Given the description of an element on the screen output the (x, y) to click on. 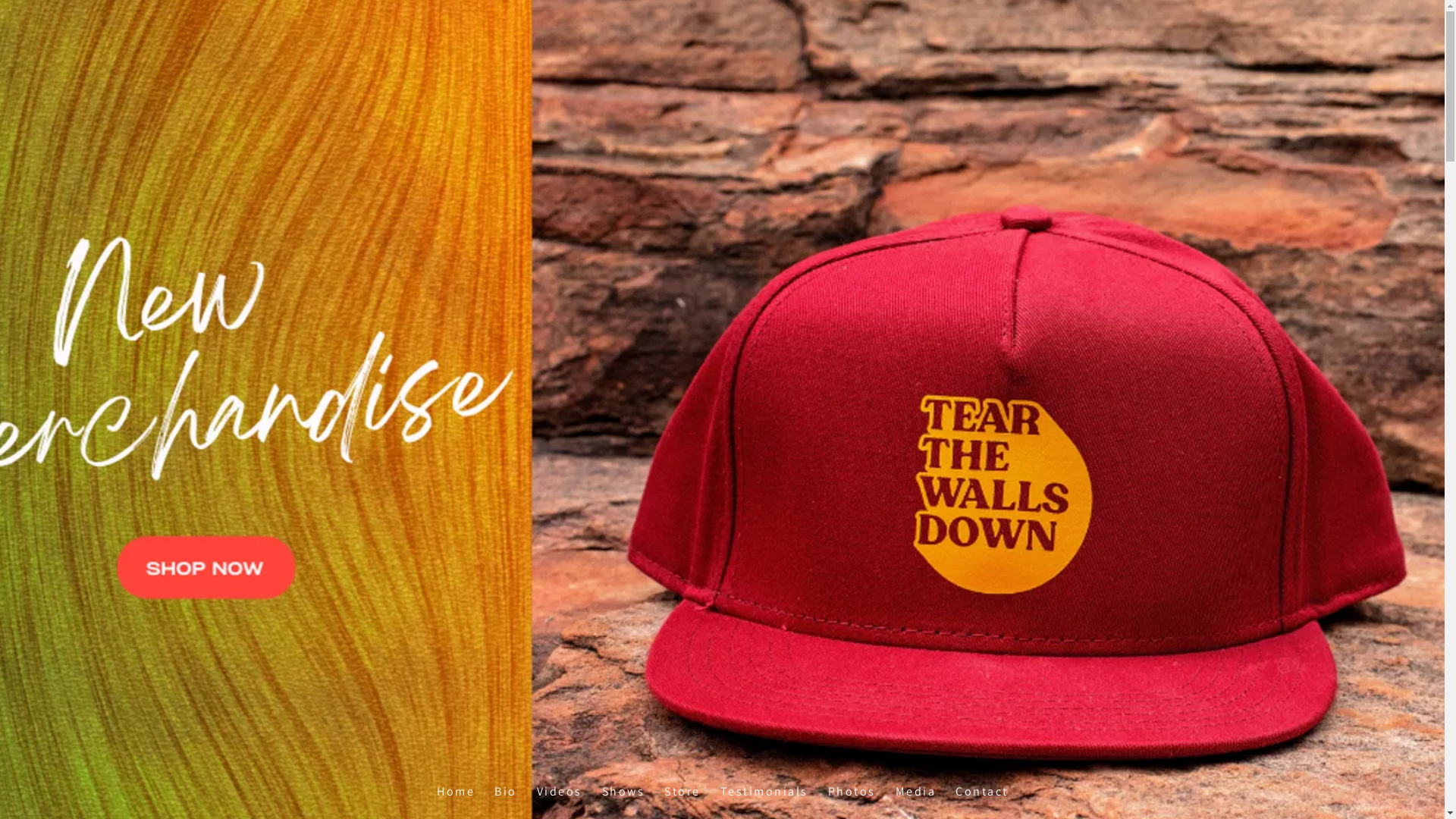
Contact Element type: text (981, 791)
Photos Element type: text (851, 791)
Shows Element type: text (622, 791)
Media Element type: text (914, 791)
Testimonials Element type: text (763, 791)
Store Element type: text (682, 791)
Videos Element type: text (558, 791)
Home Element type: text (455, 791)
Bio Element type: text (505, 791)
